Given the description of an element on the screen output the (x, y) to click on. 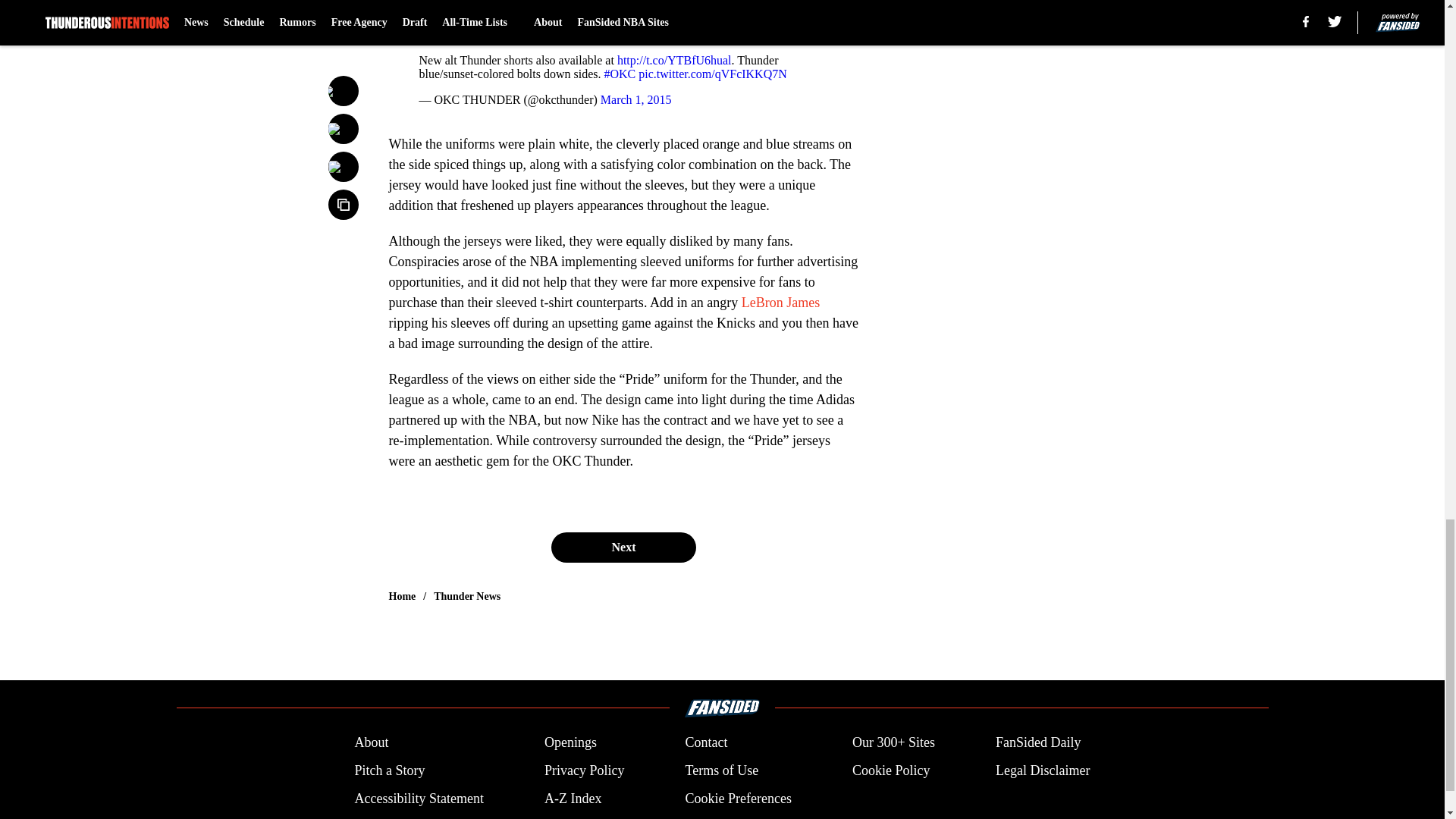
Next (622, 546)
About (370, 742)
LeBron James (780, 302)
Thunder News (466, 596)
FanSided Daily (1038, 742)
Pitch a Story (389, 770)
Openings (570, 742)
Contact (705, 742)
Home (401, 596)
March 1, 2015 (635, 99)
